Given the description of an element on the screen output the (x, y) to click on. 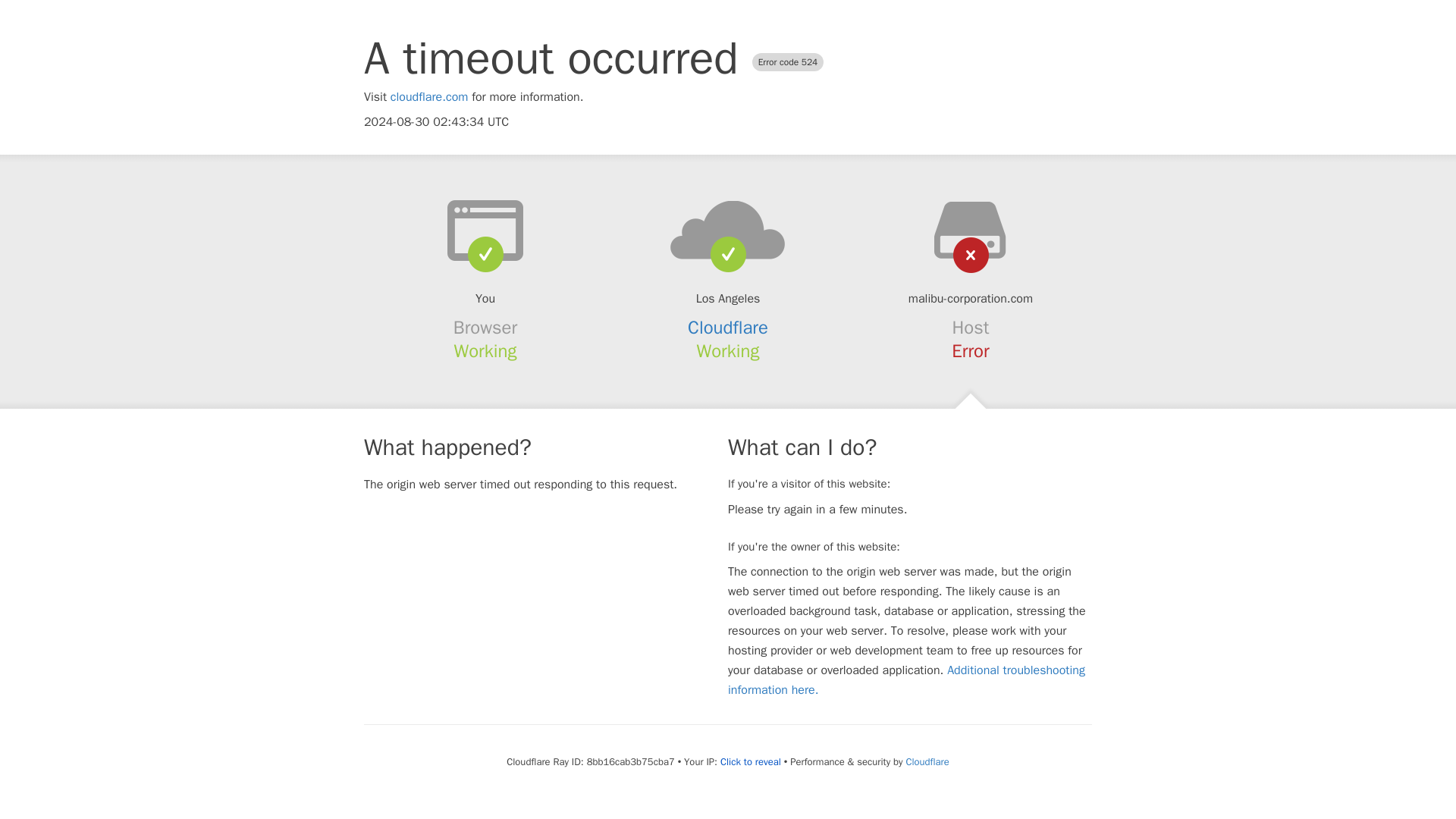
cloudflare.com (429, 96)
Additional troubleshooting information here. (906, 679)
Cloudflare (727, 327)
Click to reveal (750, 762)
Cloudflare (927, 761)
